Given the description of an element on the screen output the (x, y) to click on. 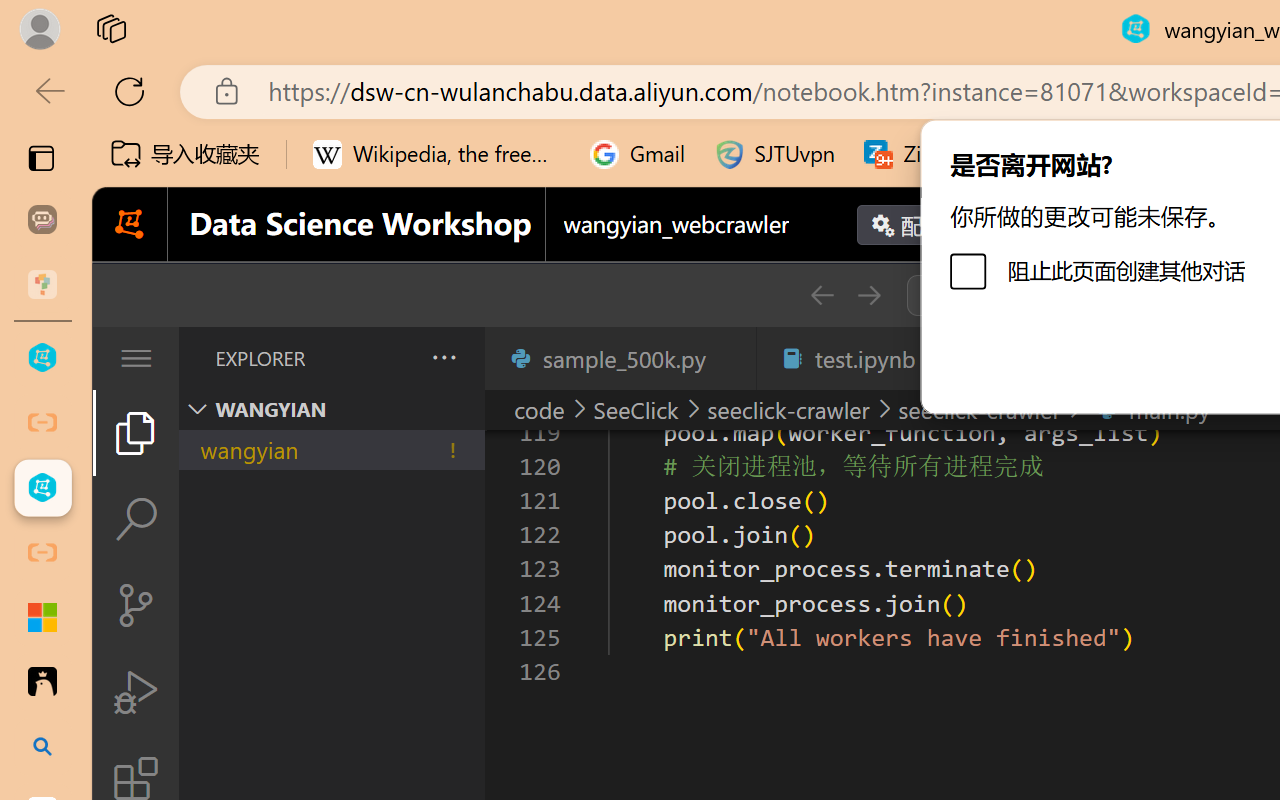
wangyian_dsw - DSW (42, 357)
